Given the description of an element on the screen output the (x, y) to click on. 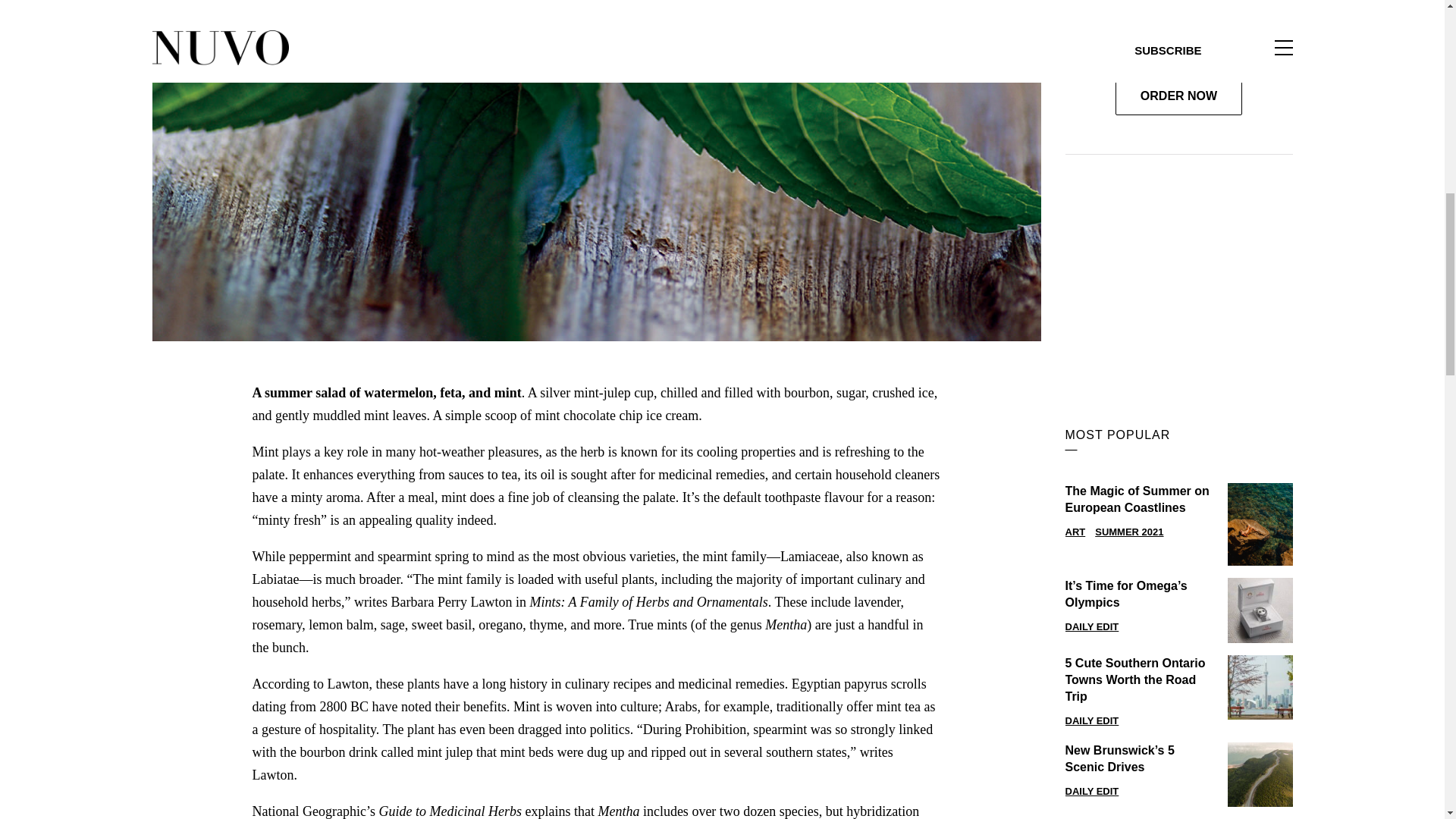
ART (1074, 531)
3rd party ad content (1178, 273)
ORDER NOW (1178, 95)
The Magic of Summer on European Coastlines (1139, 499)
DAILY EDIT (1091, 626)
SUMMER 2021 (1128, 531)
